Given the description of an element on the screen output the (x, y) to click on. 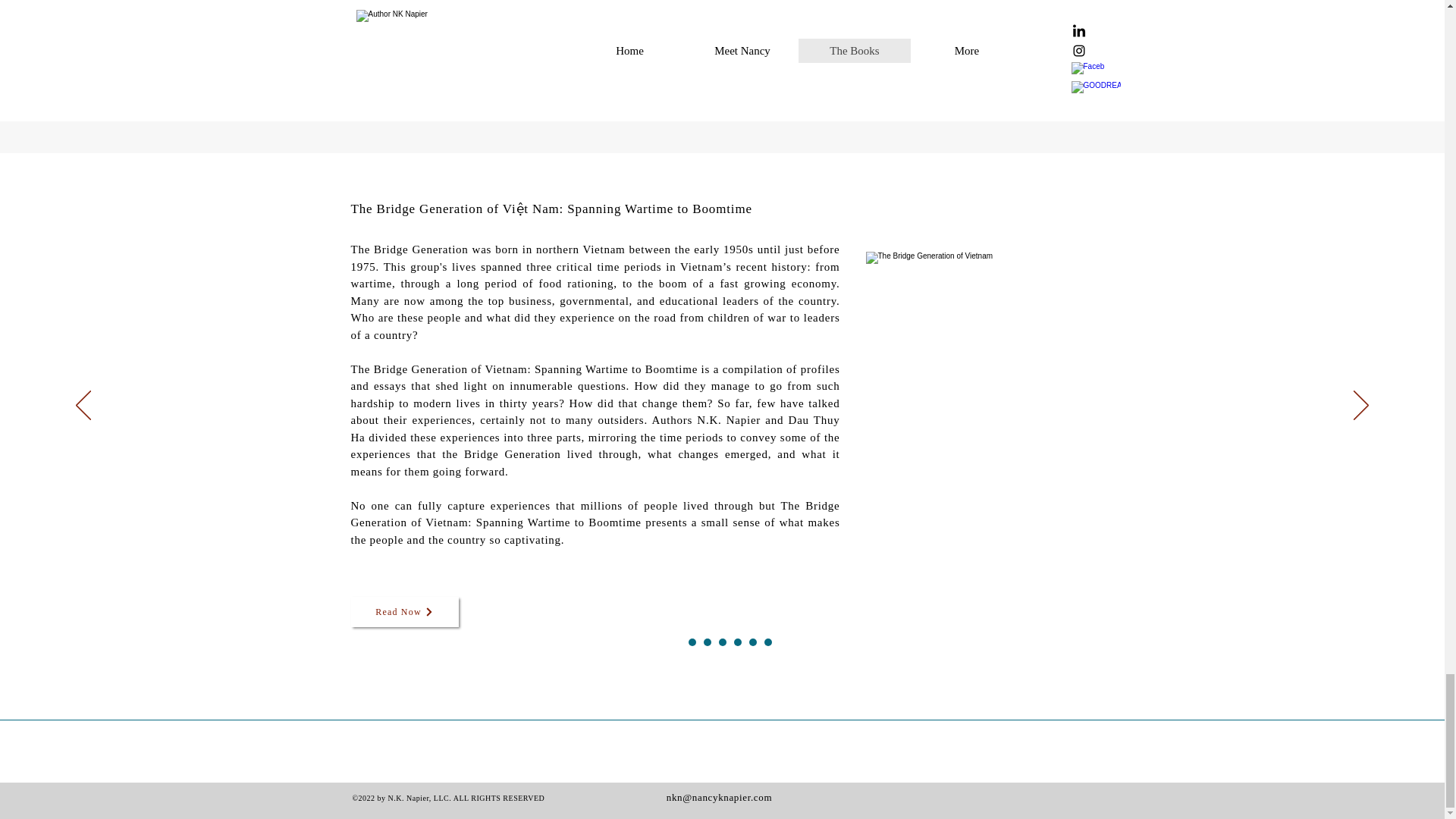
Read Now (404, 612)
